Given the description of an element on the screen output the (x, y) to click on. 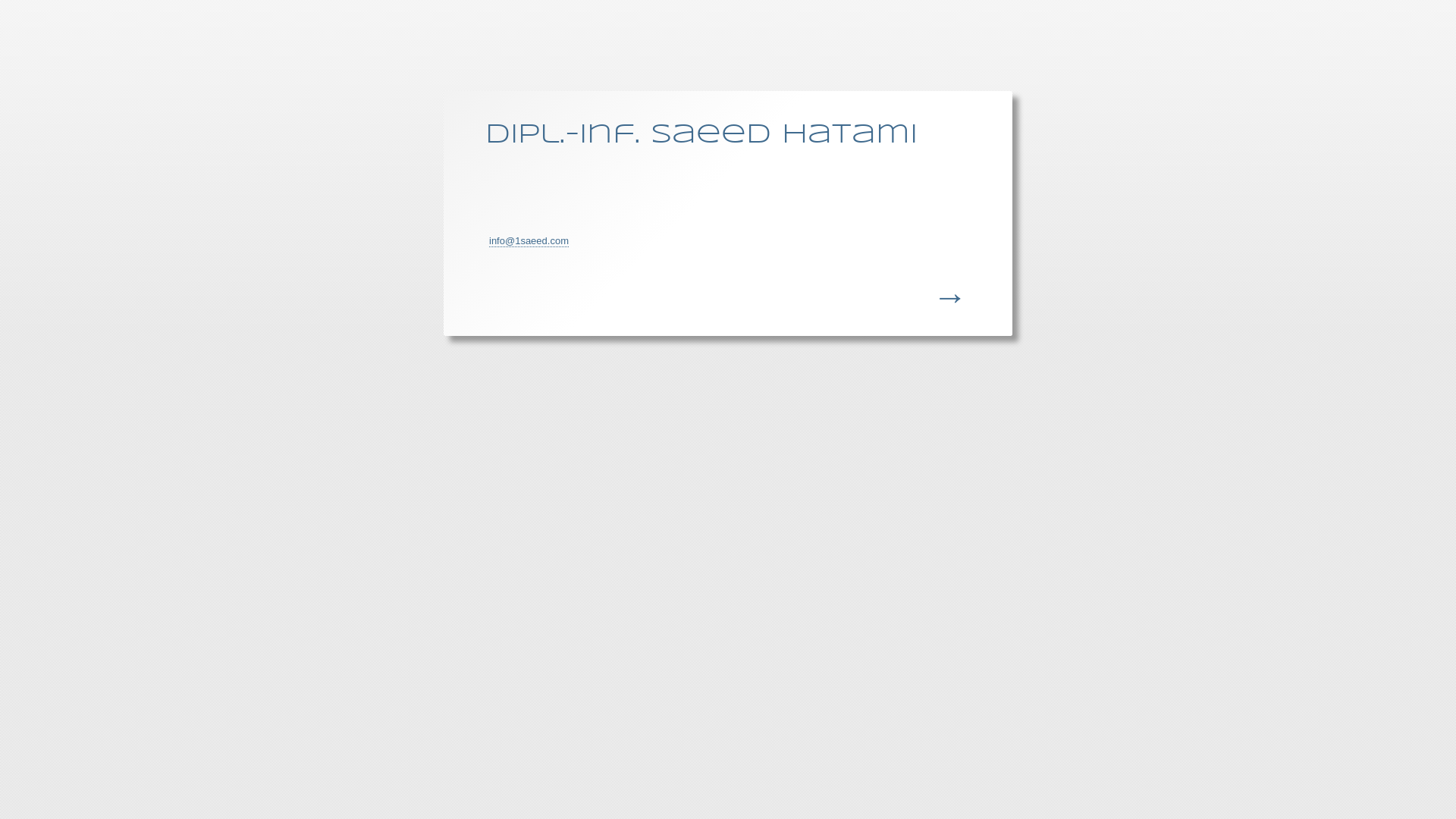
info@1saeed.com Element type: text (528, 241)
